Given the description of an element on the screen output the (x, y) to click on. 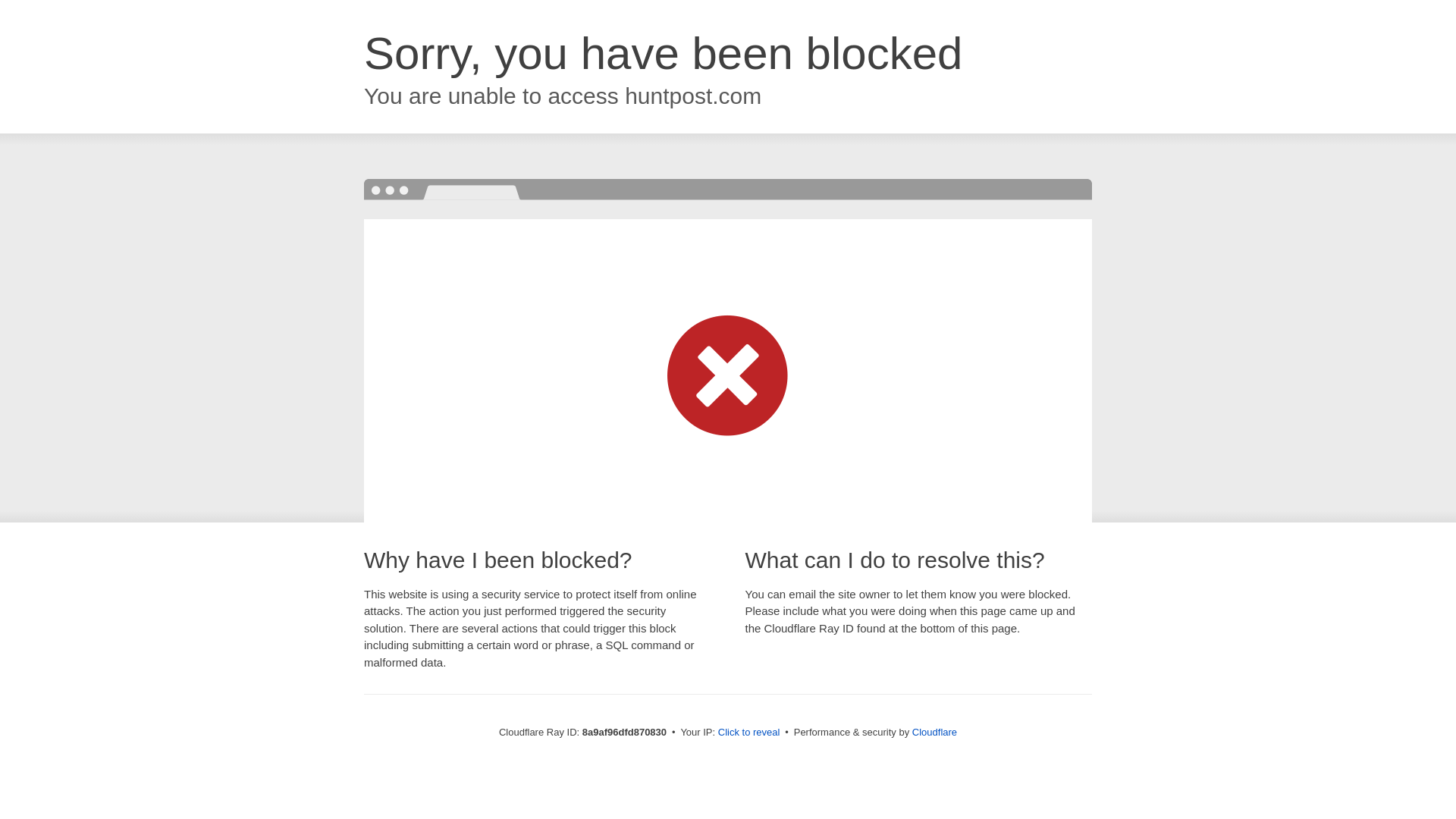
Cloudflare (934, 731)
Click to reveal (748, 732)
